Given the description of an element on the screen output the (x, y) to click on. 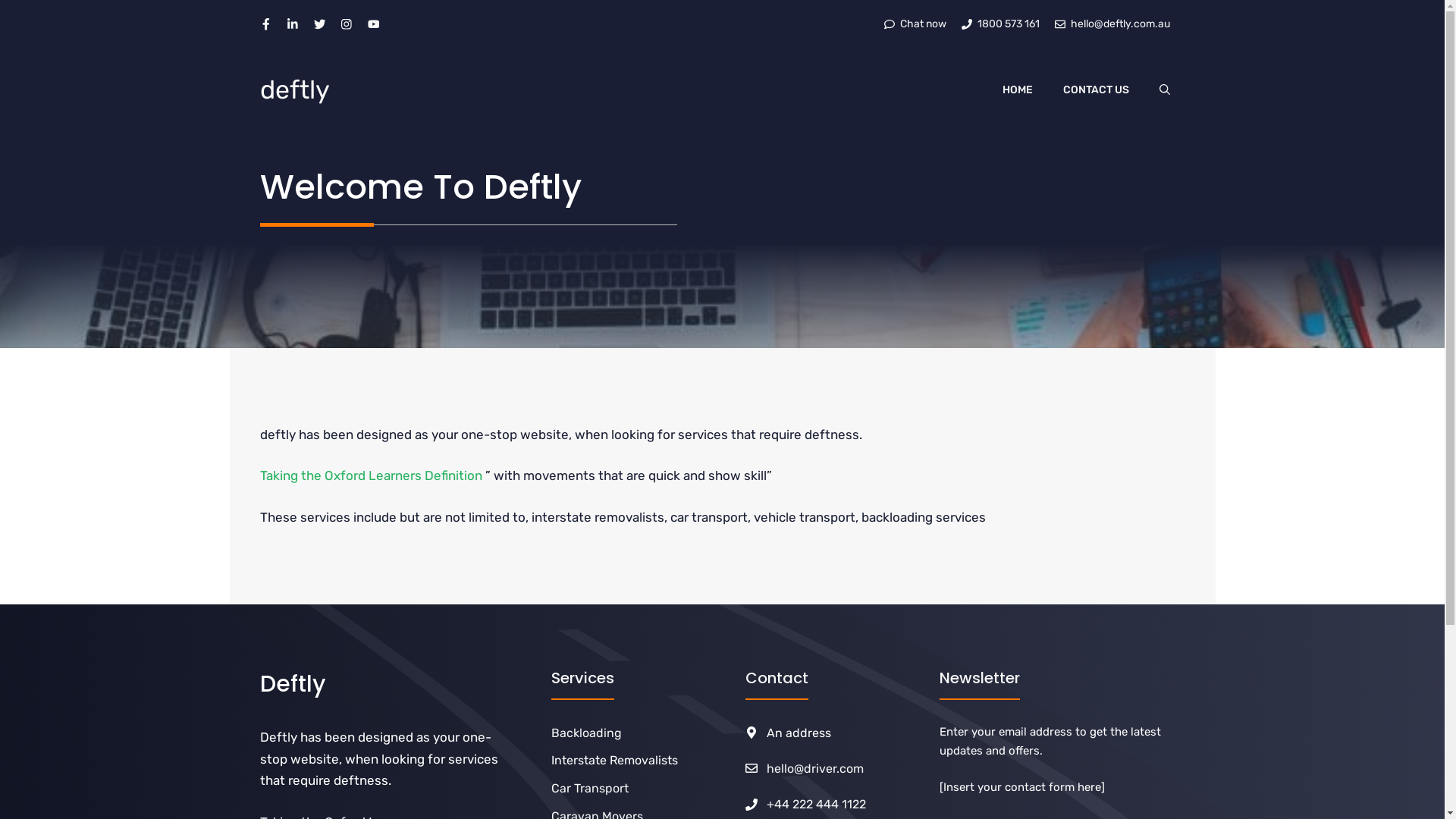
+44 222 444 1122 Element type: text (816, 804)
CONTACT US Element type: text (1096, 89)
hello@driver.com Element type: text (814, 768)
Taking the Oxford Learners Definition Element type: text (370, 475)
Car Transport Element type: text (588, 788)
HOME Element type: text (1017, 89)
hello@deftly.com.au Element type: text (1111, 24)
1800 573 161 Element type: text (1000, 24)
Backloading Element type: text (585, 732)
Chat now Element type: text (915, 24)
deftly Element type: text (294, 89)
